Given the description of an element on the screen output the (x, y) to click on. 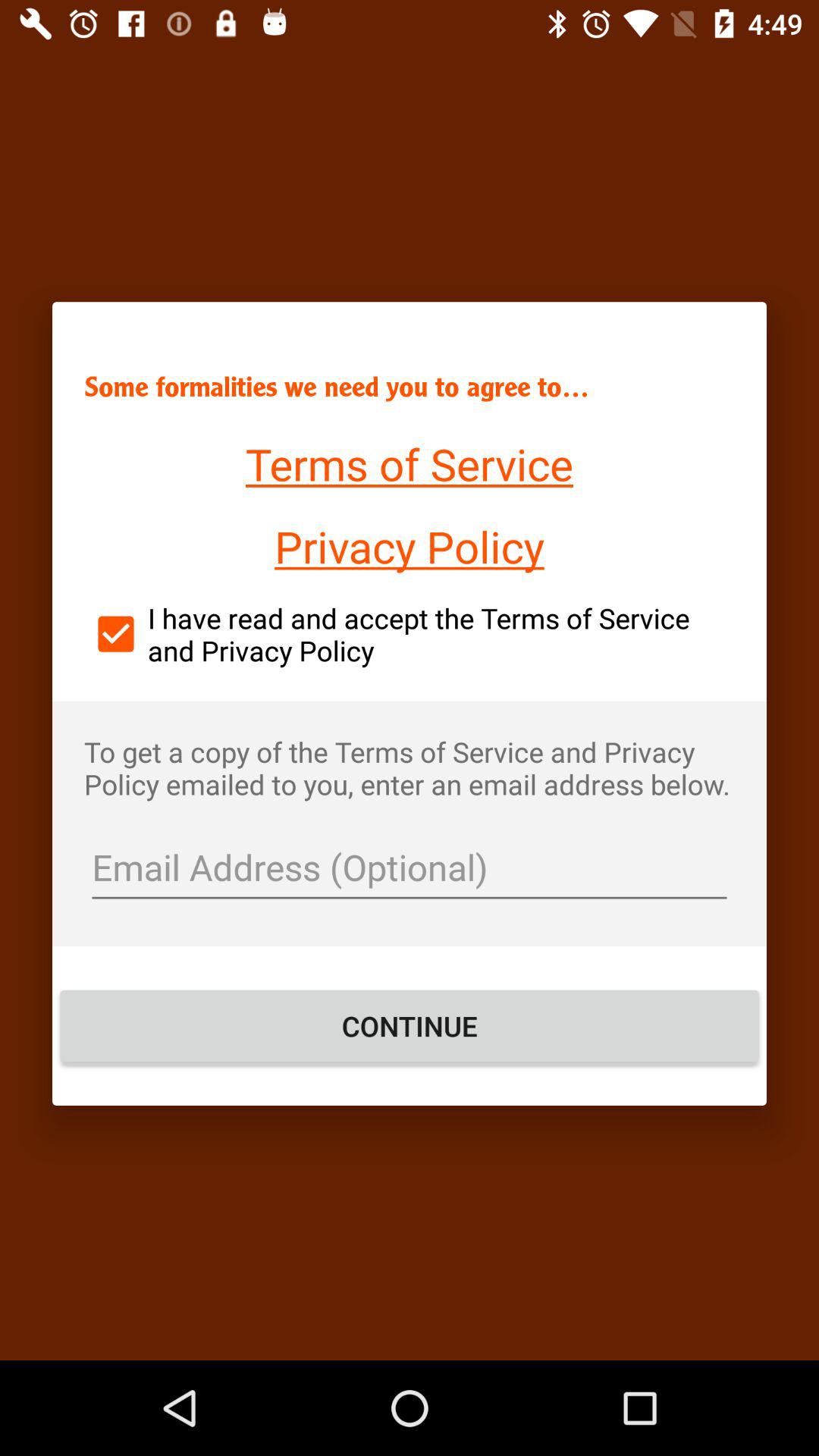
press i have read icon (409, 634)
